Given the description of an element on the screen output the (x, y) to click on. 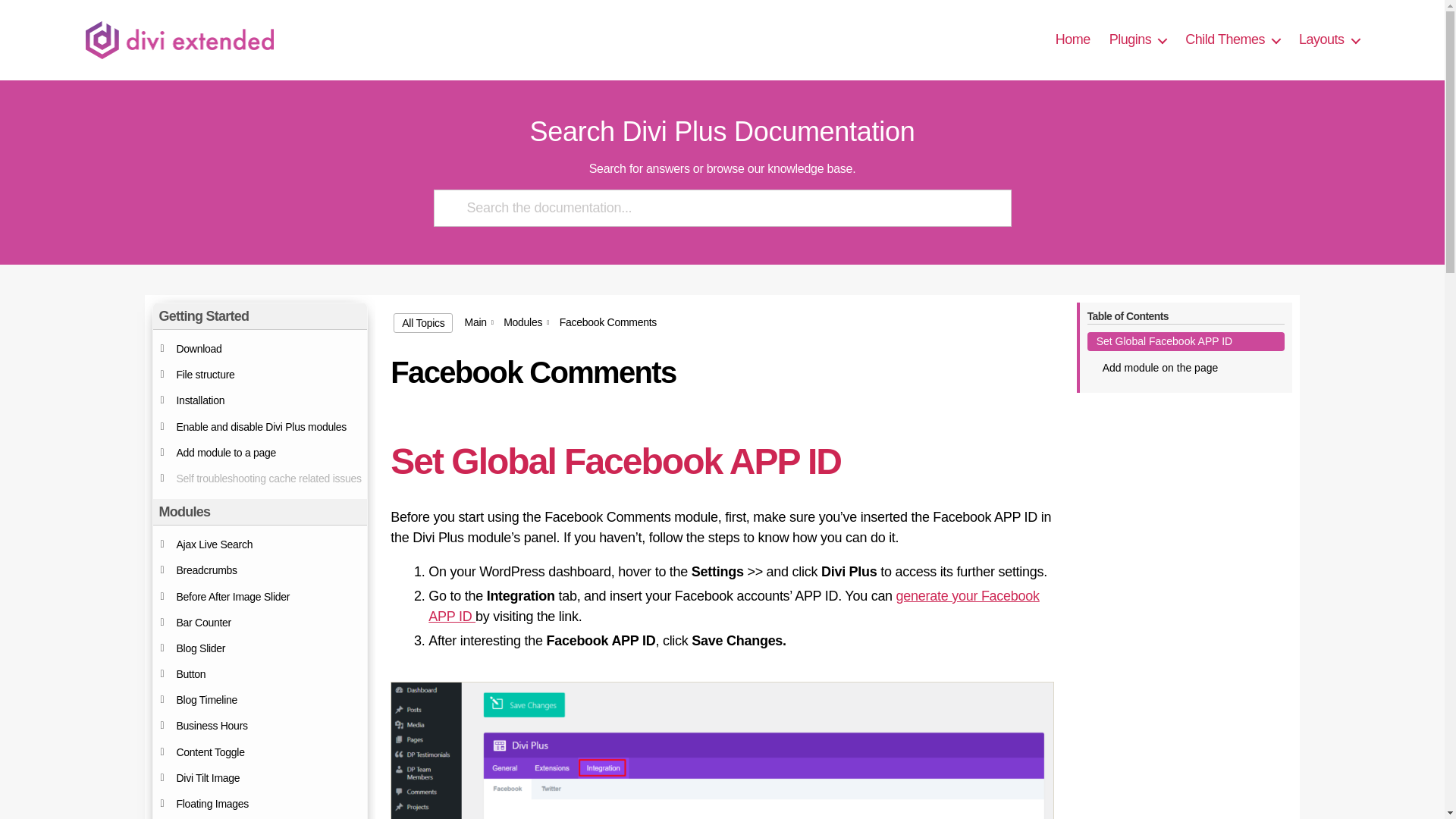
Plugins (1138, 39)
Child Themes (1232, 39)
Home (1072, 39)
